Given the description of an element on the screen output the (x, y) to click on. 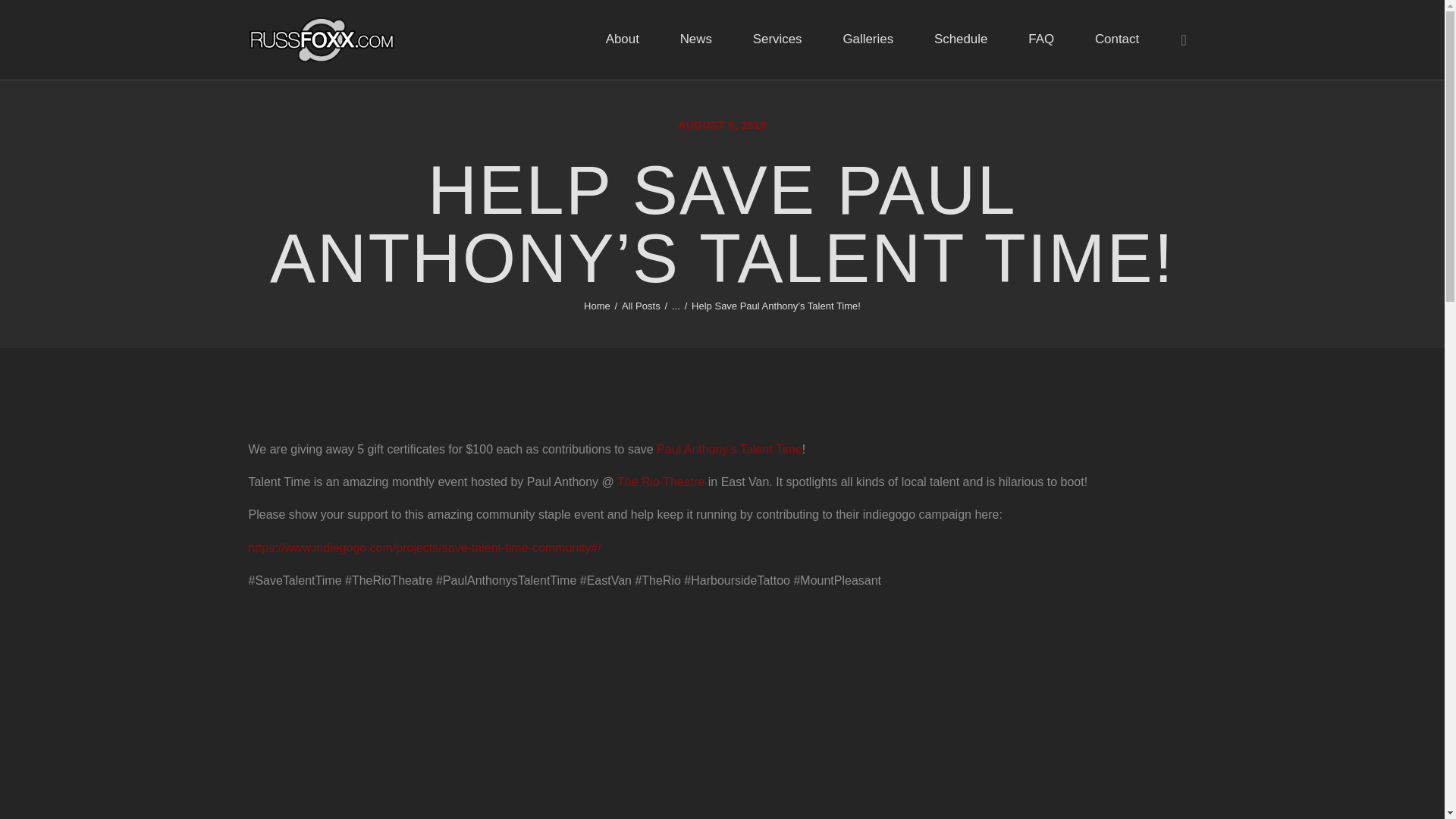
FAQ (1040, 39)
Services (777, 39)
About (622, 39)
About (622, 39)
Contact (1116, 39)
Galleries (868, 39)
Schedule (960, 39)
News (695, 39)
